Given the description of an element on the screen output the (x, y) to click on. 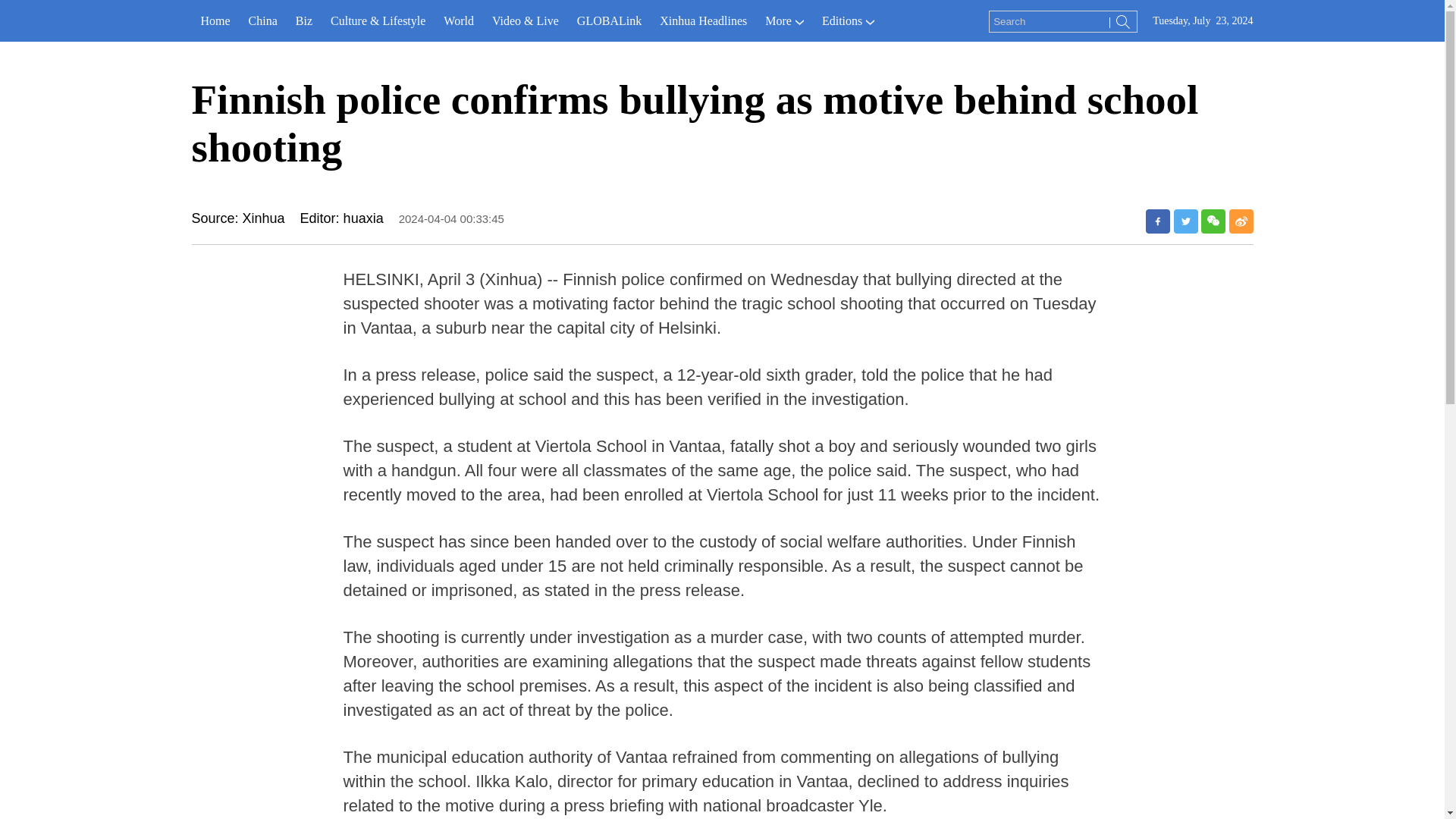
GLOBALink (608, 20)
China (263, 20)
Home (214, 20)
Editions (847, 20)
World (458, 20)
More (783, 20)
Xinhua Headlines (702, 20)
